Given the description of an element on the screen output the (x, y) to click on. 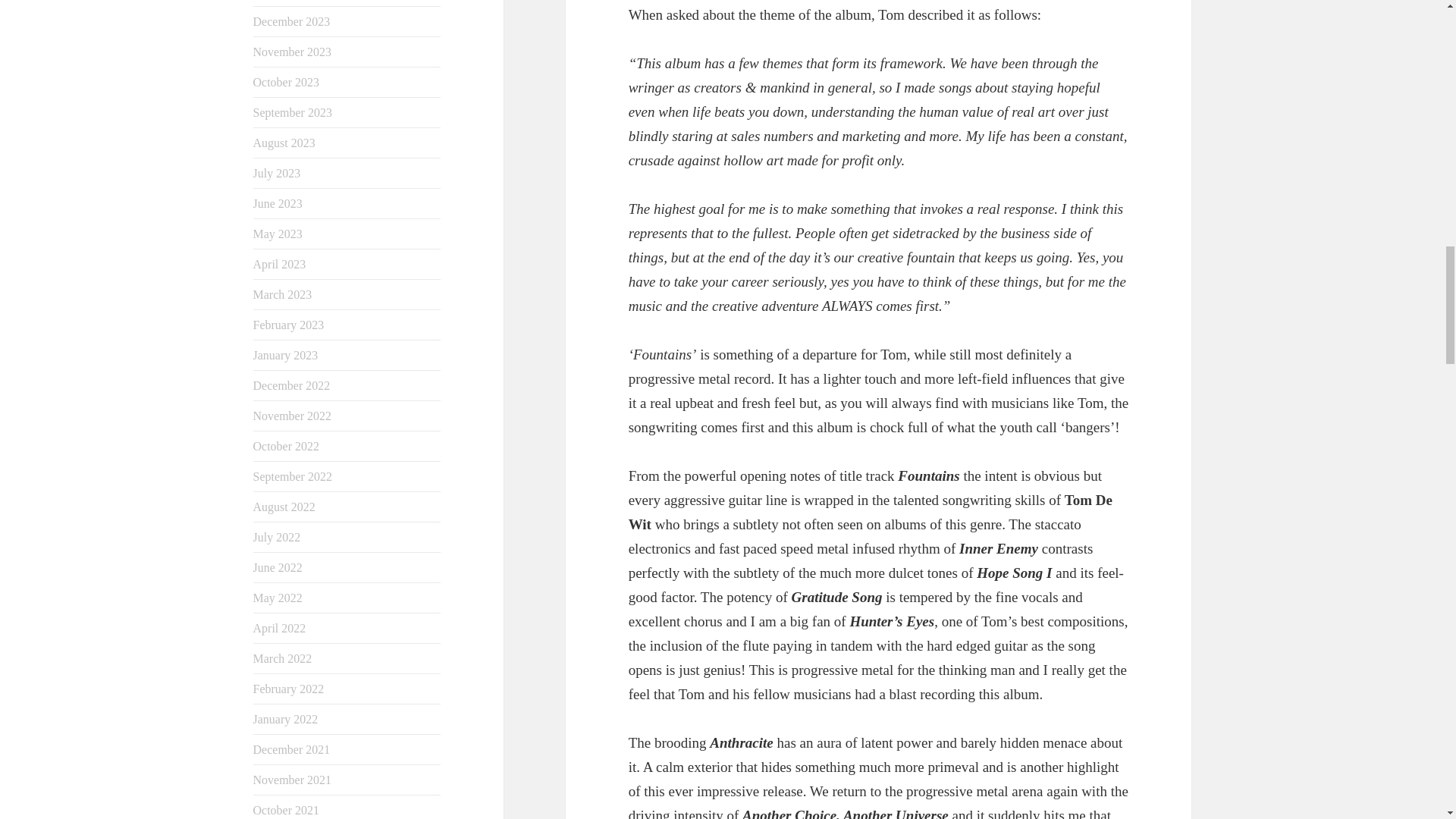
May 2023 (277, 233)
April 2023 (279, 264)
March 2023 (283, 294)
September 2023 (292, 112)
November 2023 (292, 51)
July 2023 (277, 173)
January 2023 (285, 354)
June 2023 (277, 203)
October 2023 (286, 82)
February 2023 (288, 324)
